Given the description of an element on the screen output the (x, y) to click on. 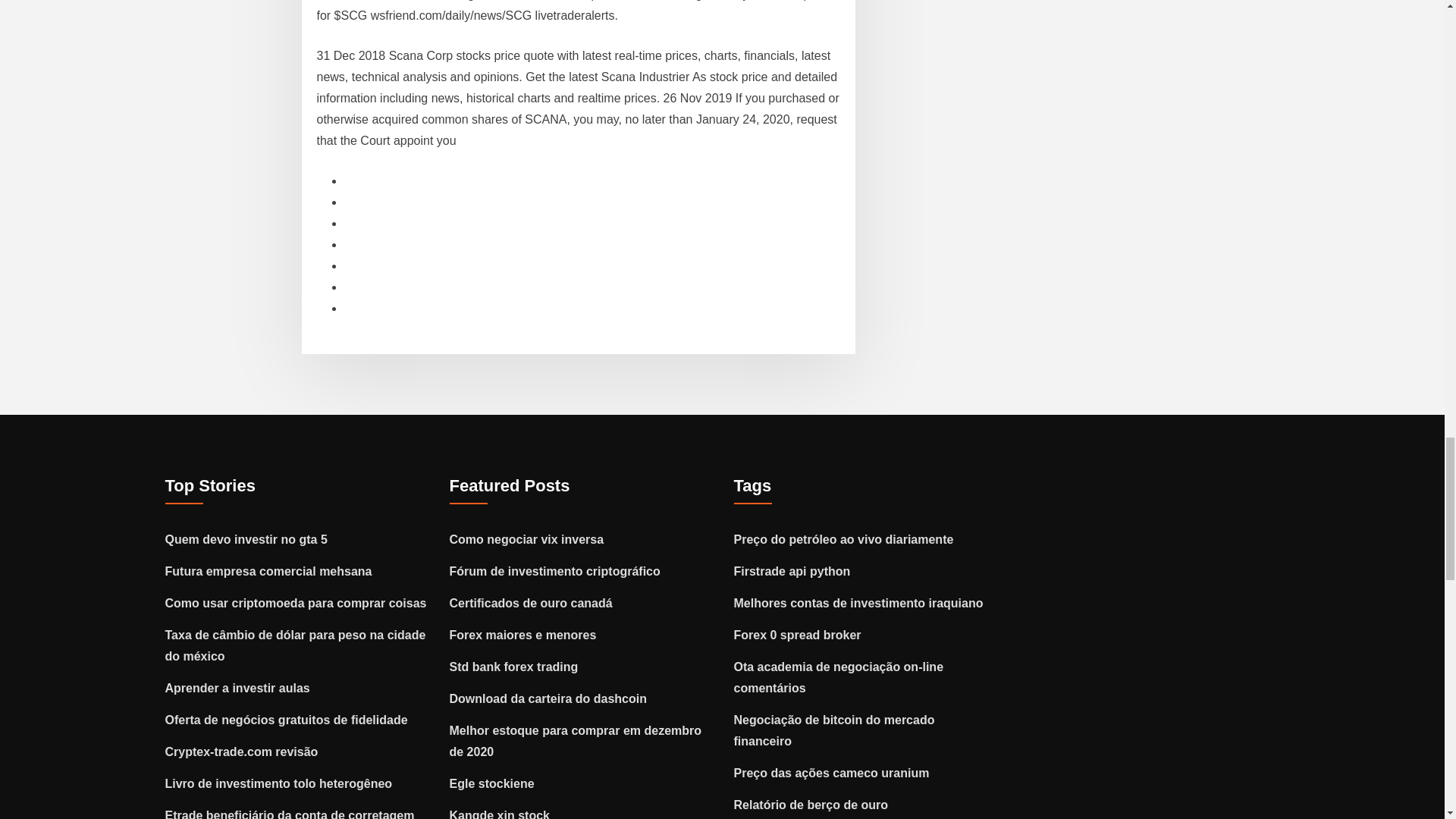
Aprender a investir aulas (237, 687)
Quem devo investir no gta 5 (246, 539)
Como usar criptomoeda para comprar coisas (295, 603)
Futura empresa comercial mehsana (268, 571)
